Given the description of an element on the screen output the (x, y) to click on. 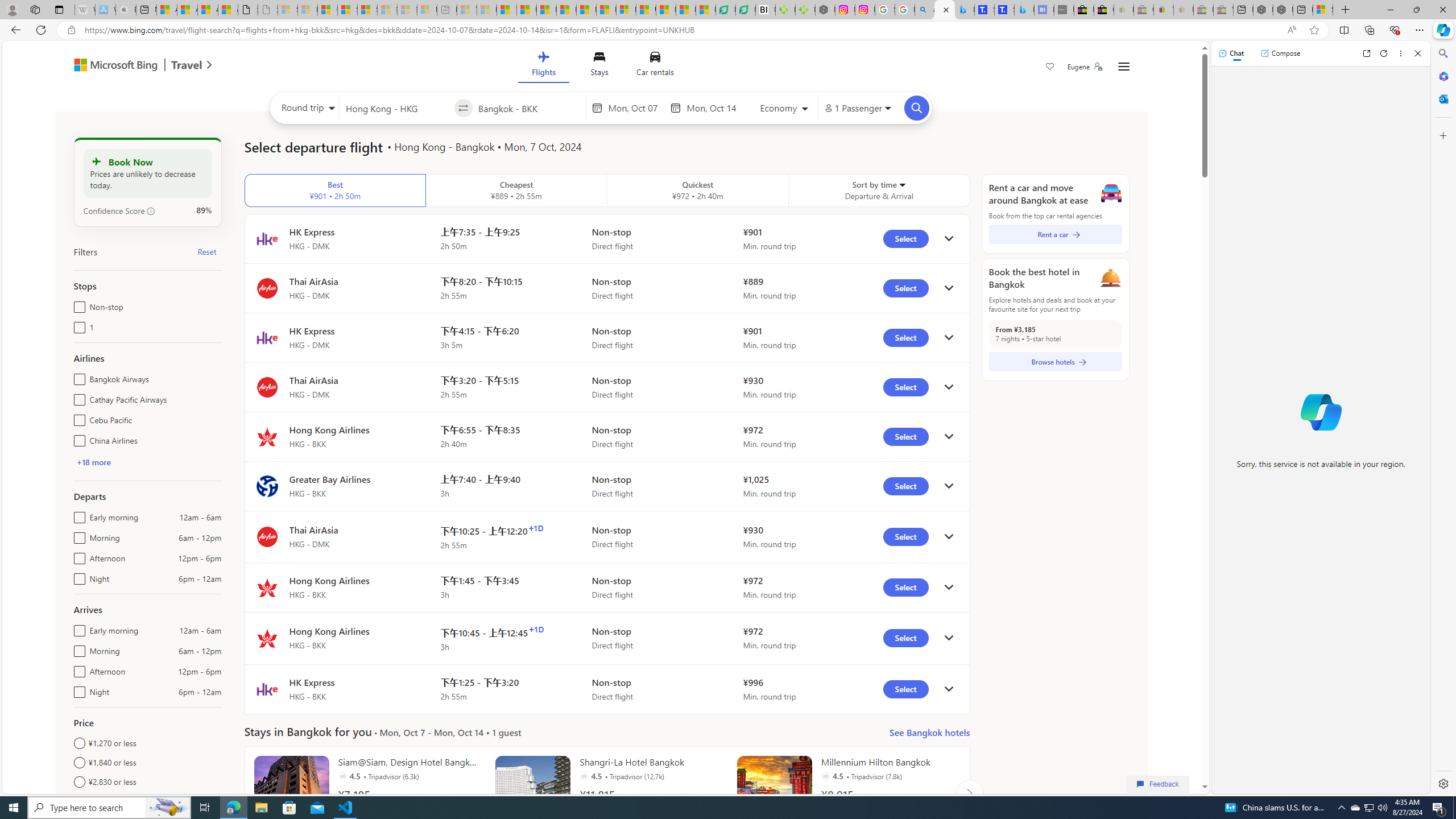
Class: msft-bing-logo msft-bing-logo-desktop (112, 64)
Info tooltip (151, 211)
Safety in Our Products - Google Safety Center (884, 9)
Nordace - Nordace Edin Collection (825, 9)
